Given the description of an element on the screen output the (x, y) to click on. 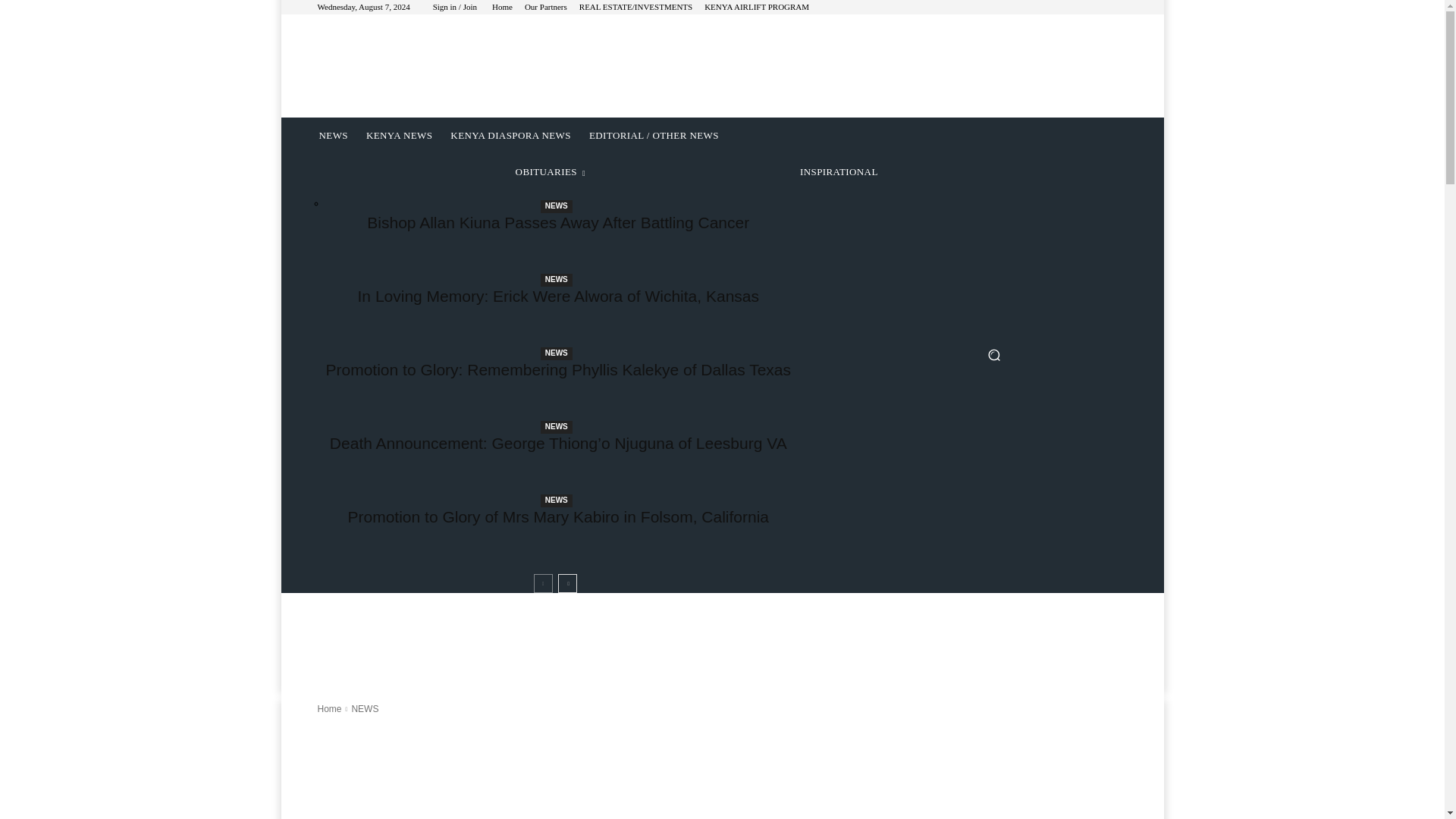
In Loving Memory: Erick Were Alwora of Wichita, Kansas (558, 295)
Promotion to Glory of Mrs Mary Kabiro in Folsom, California (558, 516)
Bishop Allan Kiuna Passes Away After Battling Cancer (557, 221)
Home (502, 7)
Our Partners (545, 7)
Promotion to Glory of Mrs Mary Kabiro in Folsom, California (558, 516)
In Loving Memory: Erick Were Alwora of Wichita, Kansas (558, 295)
KENYA DIASPORA NEWS (510, 135)
NEWS (556, 427)
NEWS (556, 279)
Bishop Allan Kiuna Passes Away After Battling Cancer (557, 221)
NEWS (556, 353)
KENYA AIRLIFT PROGRAM (756, 7)
Diaspora Messenger (427, 64)
